Given the description of an element on the screen output the (x, y) to click on. 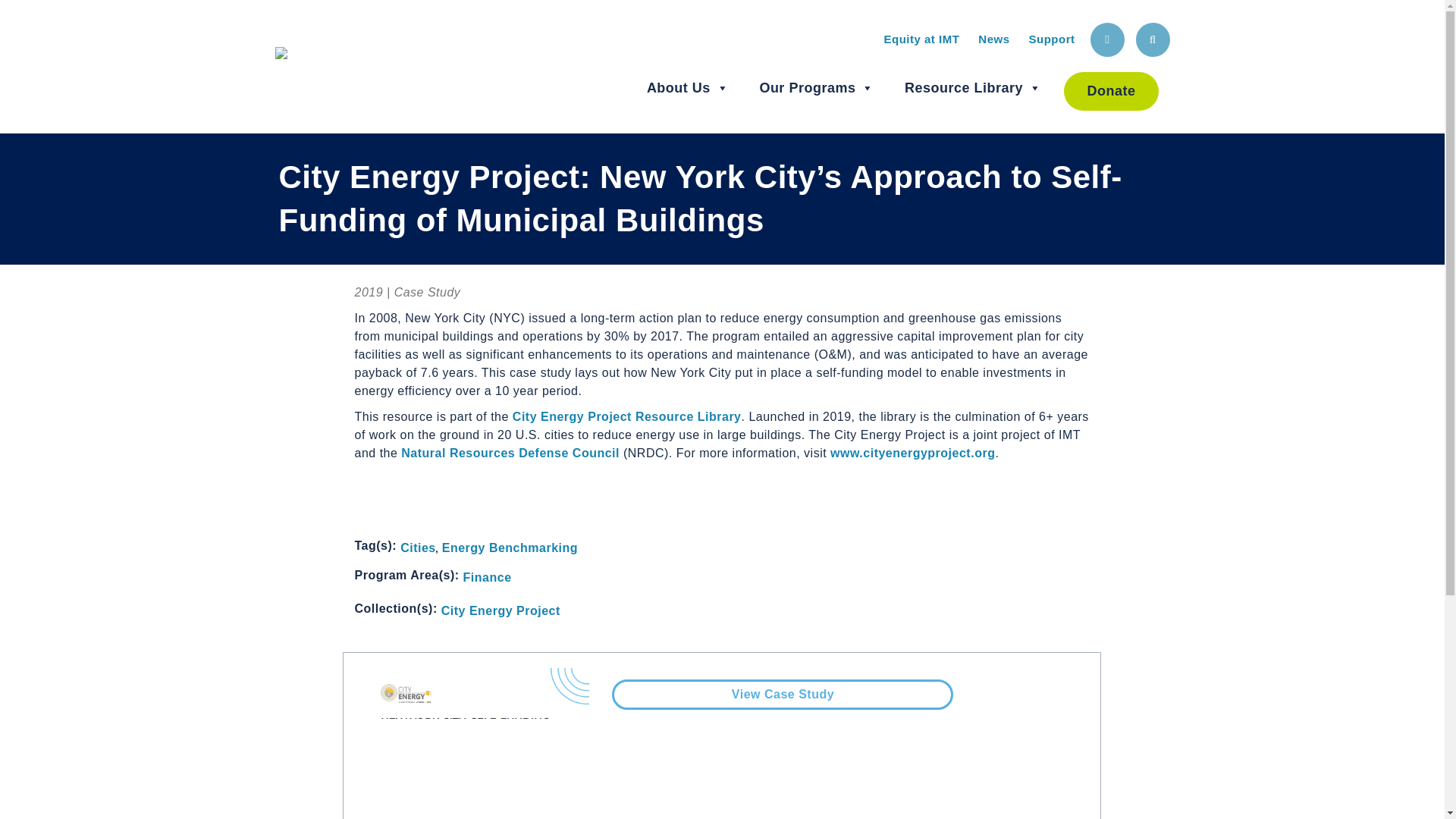
News (993, 39)
Our Programs (816, 87)
Search (1152, 39)
Support (1051, 39)
About Us (687, 87)
Equity at IMT (920, 39)
Resource Library (972, 87)
